Given the description of an element on the screen output the (x, y) to click on. 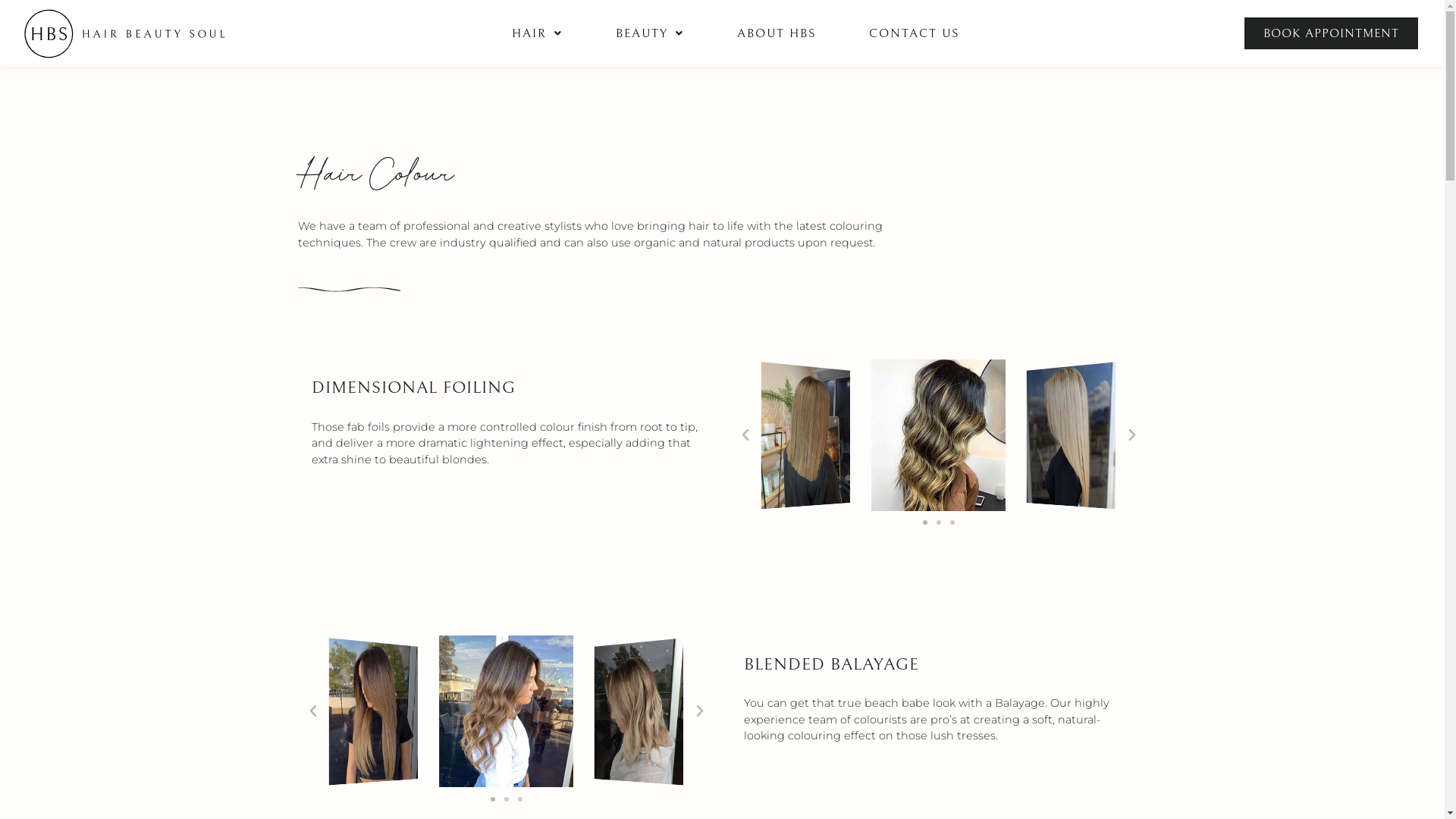
BEAUTY Element type: text (649, 33)
ABOUT HBS Element type: text (776, 33)
HAIR Element type: text (536, 33)
CONTACT US Element type: text (913, 33)
BOOK APPOINTMENT Element type: text (1331, 33)
